Given the description of an element on the screen output the (x, y) to click on. 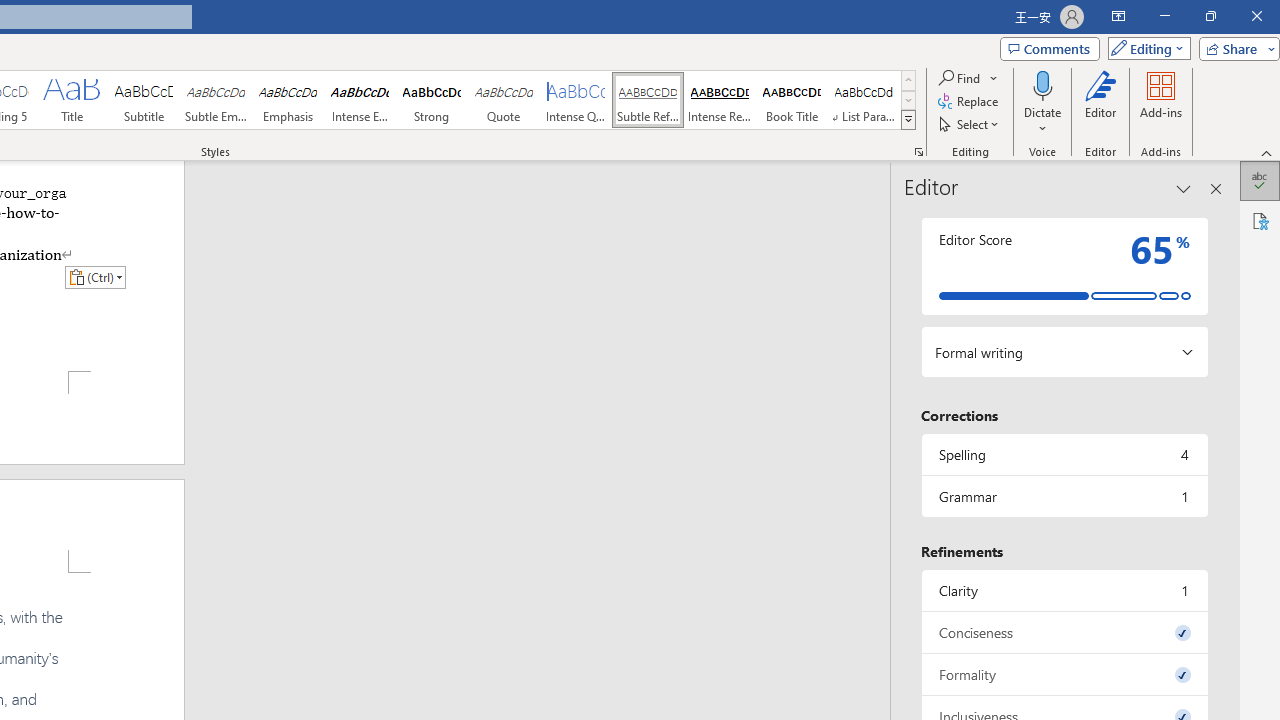
Grammar, 1 issue. Press space or enter to review items. (1064, 495)
Clarity, 1 issue. Press space or enter to review items. (1064, 590)
Action: Paste alternatives (95, 276)
